Given the description of an element on the screen output the (x, y) to click on. 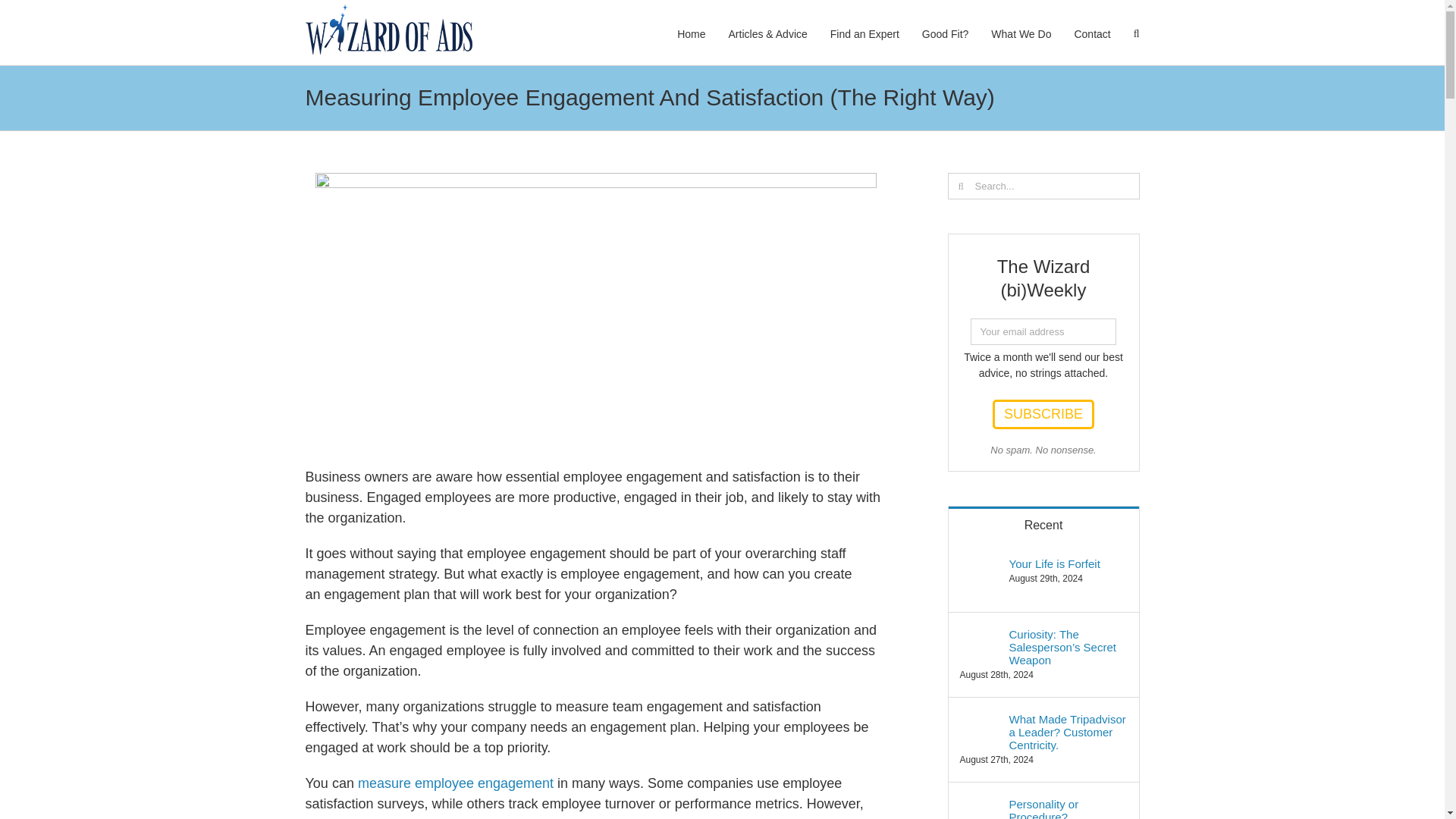
SUBSCRIBE (1043, 414)
What We Do (1021, 32)
measure employee engagement (455, 783)
Find an Expert (864, 32)
